Given the description of an element on the screen output the (x, y) to click on. 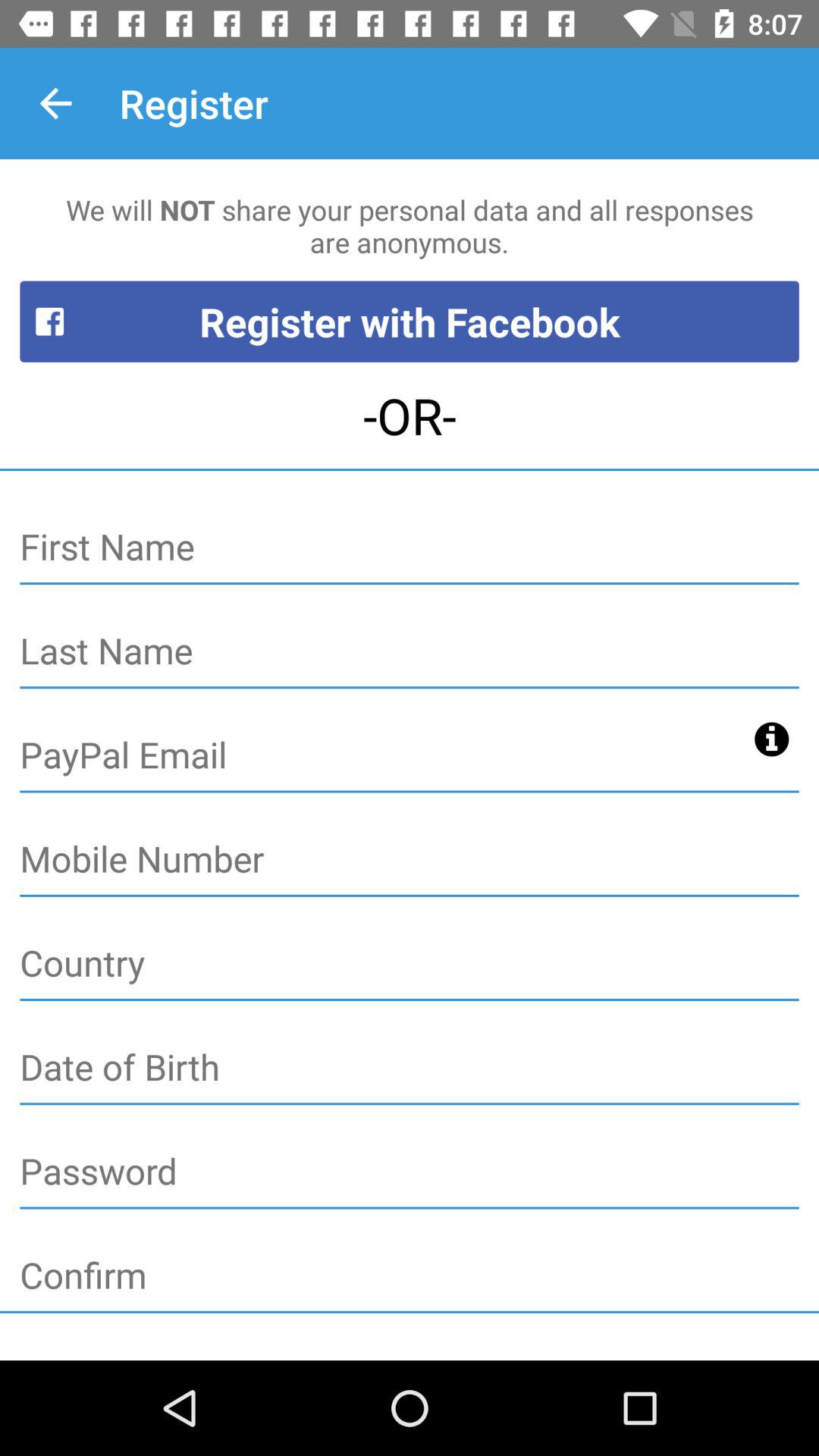
click icon above -or- icon (409, 321)
